Given the description of an element on the screen output the (x, y) to click on. 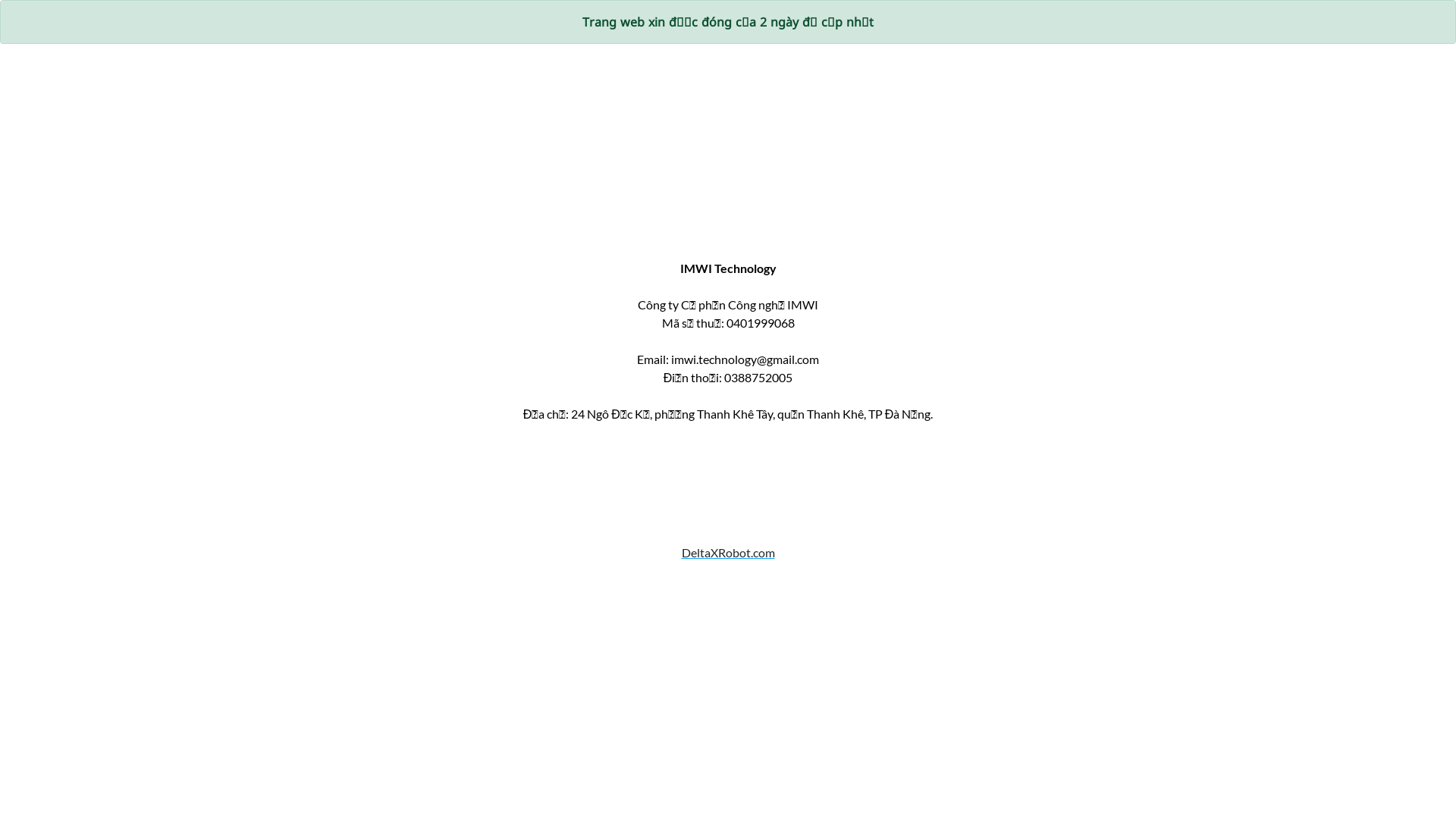
DeltaXRobot.com Element type: text (727, 570)
